Given the description of an element on the screen output the (x, y) to click on. 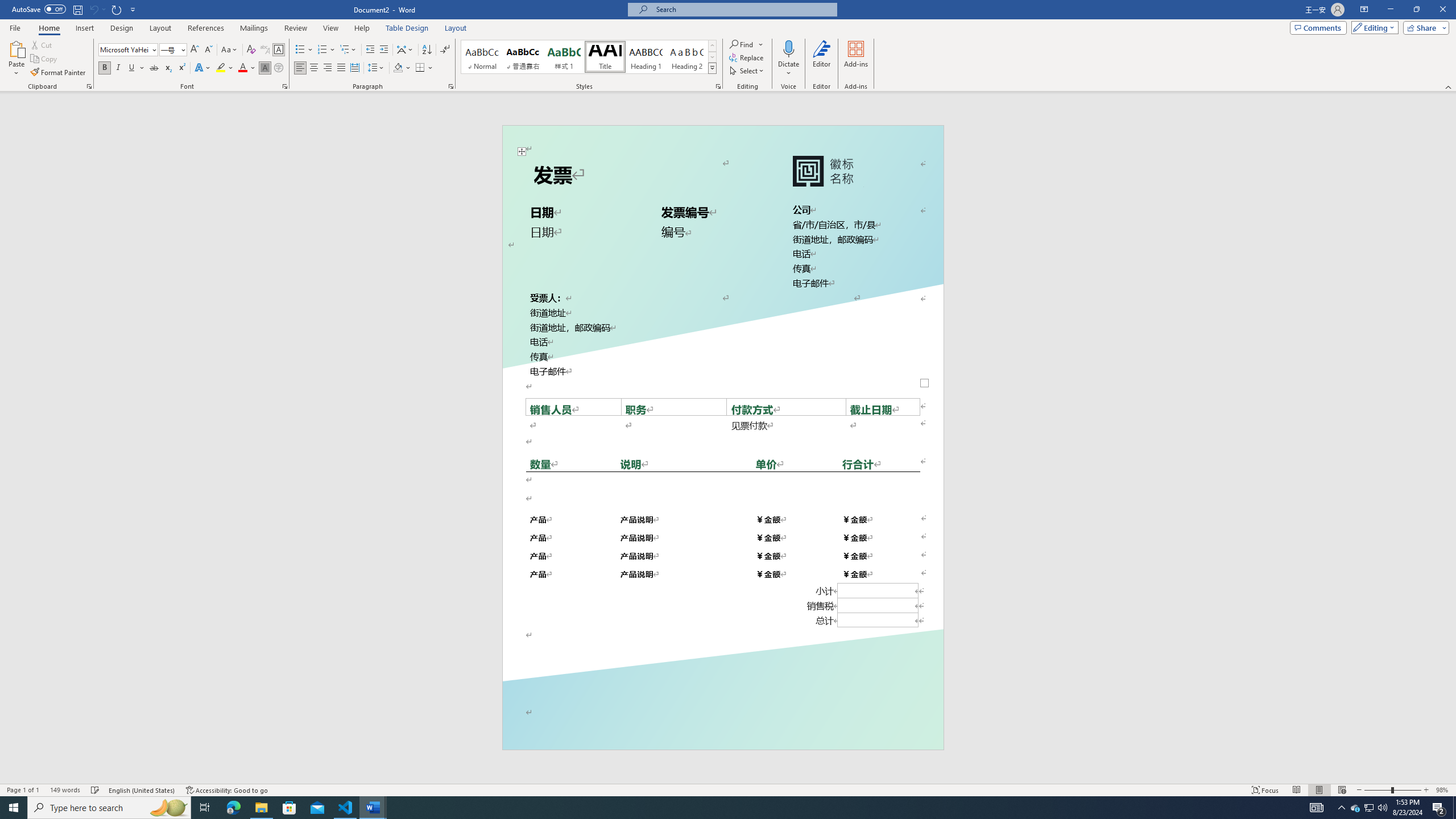
Find (746, 44)
Table Design (407, 28)
Close (1442, 9)
Clear Formatting (250, 49)
Select (747, 69)
Bold (104, 67)
Font (124, 49)
Font Color (246, 67)
Line and Paragraph Spacing (376, 67)
Decrease Indent (370, 49)
Can't Undo (96, 9)
Zoom Out (1377, 790)
Customize Quick Access Toolbar (133, 9)
Strikethrough (154, 67)
